Given the description of an element on the screen output the (x, y) to click on. 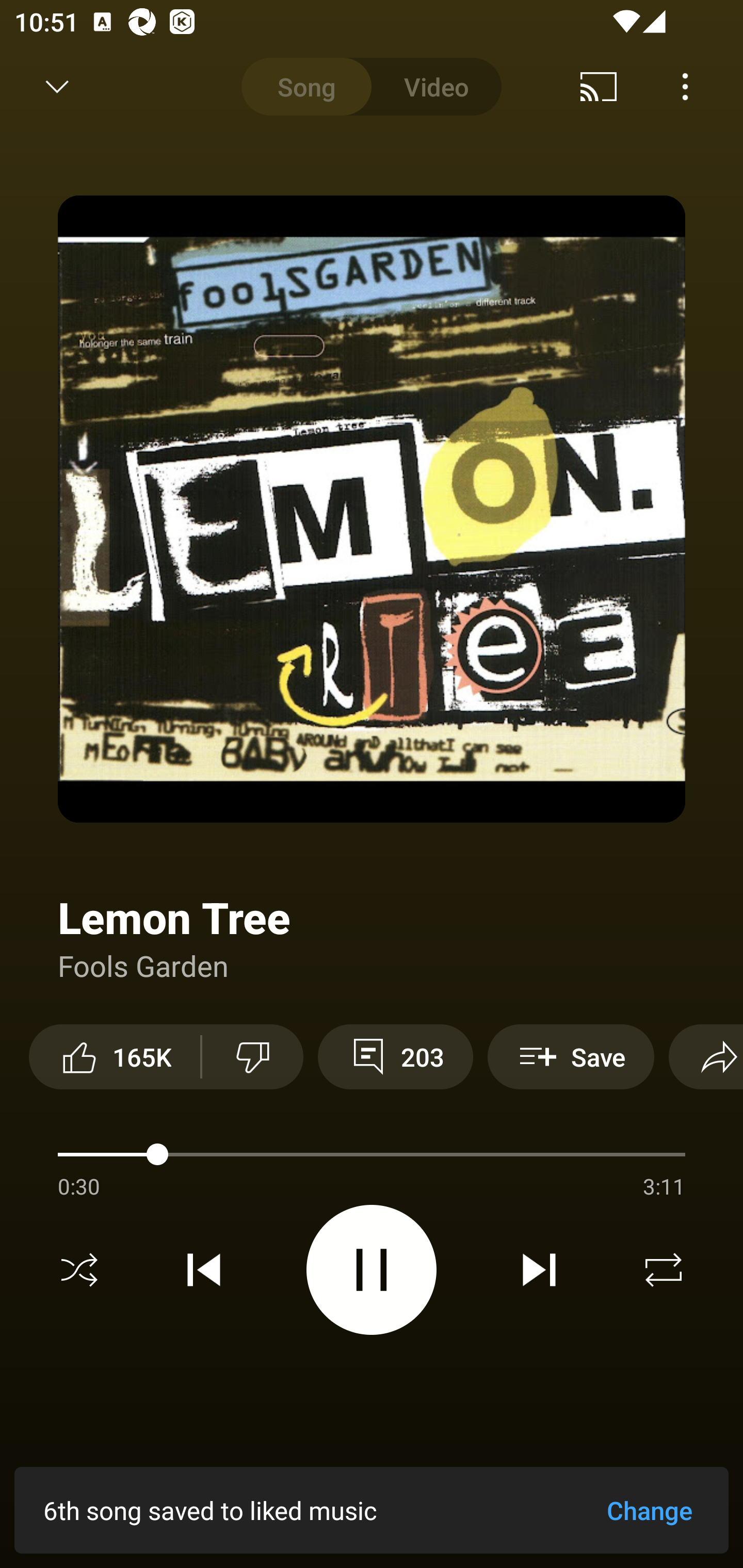
Minimize (57, 86)
Cast. Disconnected (598, 86)
Menu (684, 86)
Dislike (252, 1056)
203 View 203 comments (395, 1056)
Save Save to playlist (570, 1056)
Share (705, 1056)
Pause video (371, 1269)
Shuffle off (79, 1269)
Previous track (203, 1269)
Next track (538, 1269)
Repeat off (663, 1269)
Up next UP NEXT Lyrics LYRICS Related RELATED (371, 1491)
Change (649, 1510)
